Given the description of an element on the screen output the (x, y) to click on. 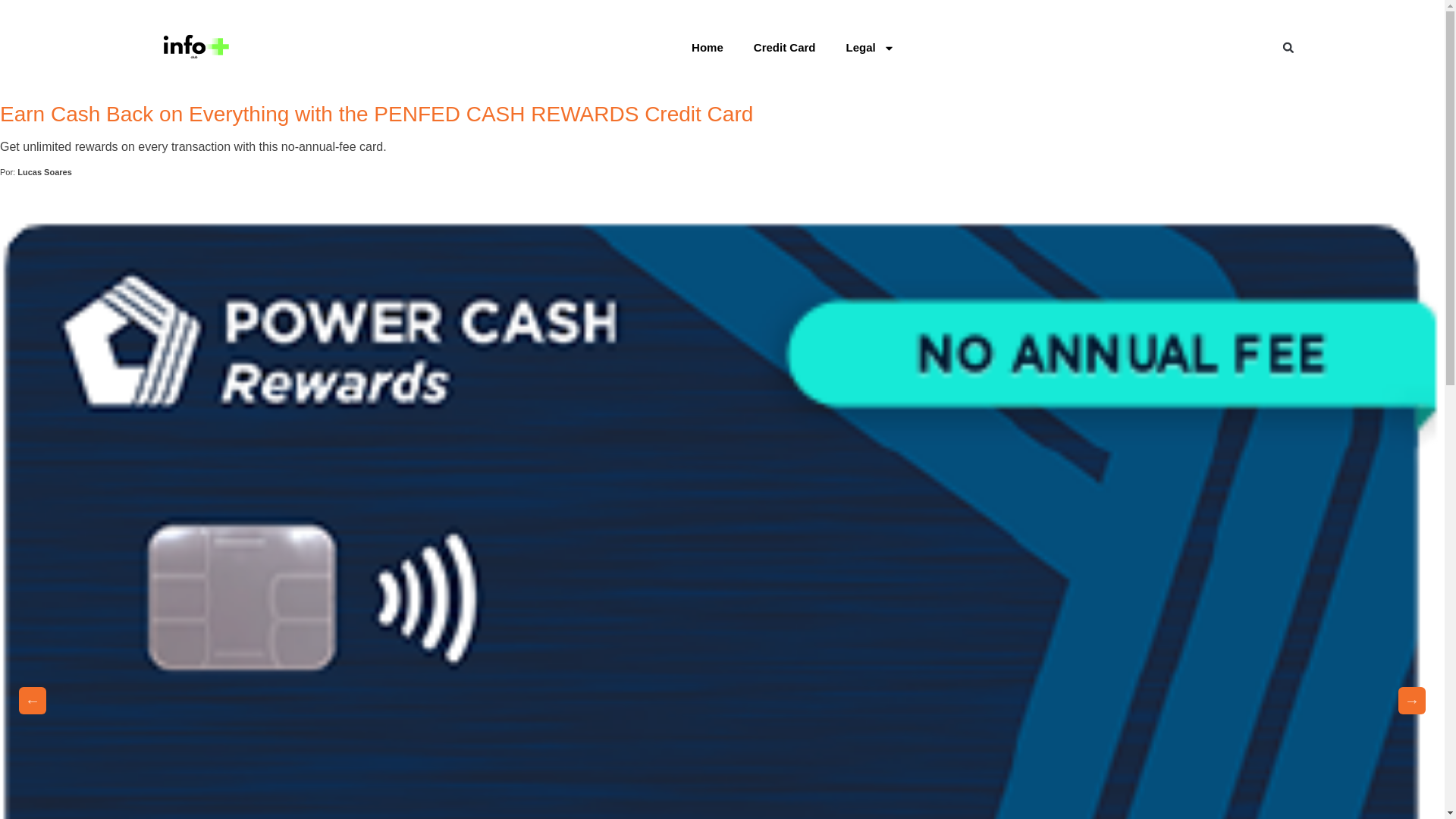
Home (707, 47)
Previous (32, 700)
Credit Card (784, 47)
Next (1411, 700)
Legal (868, 47)
